Given the description of an element on the screen output the (x, y) to click on. 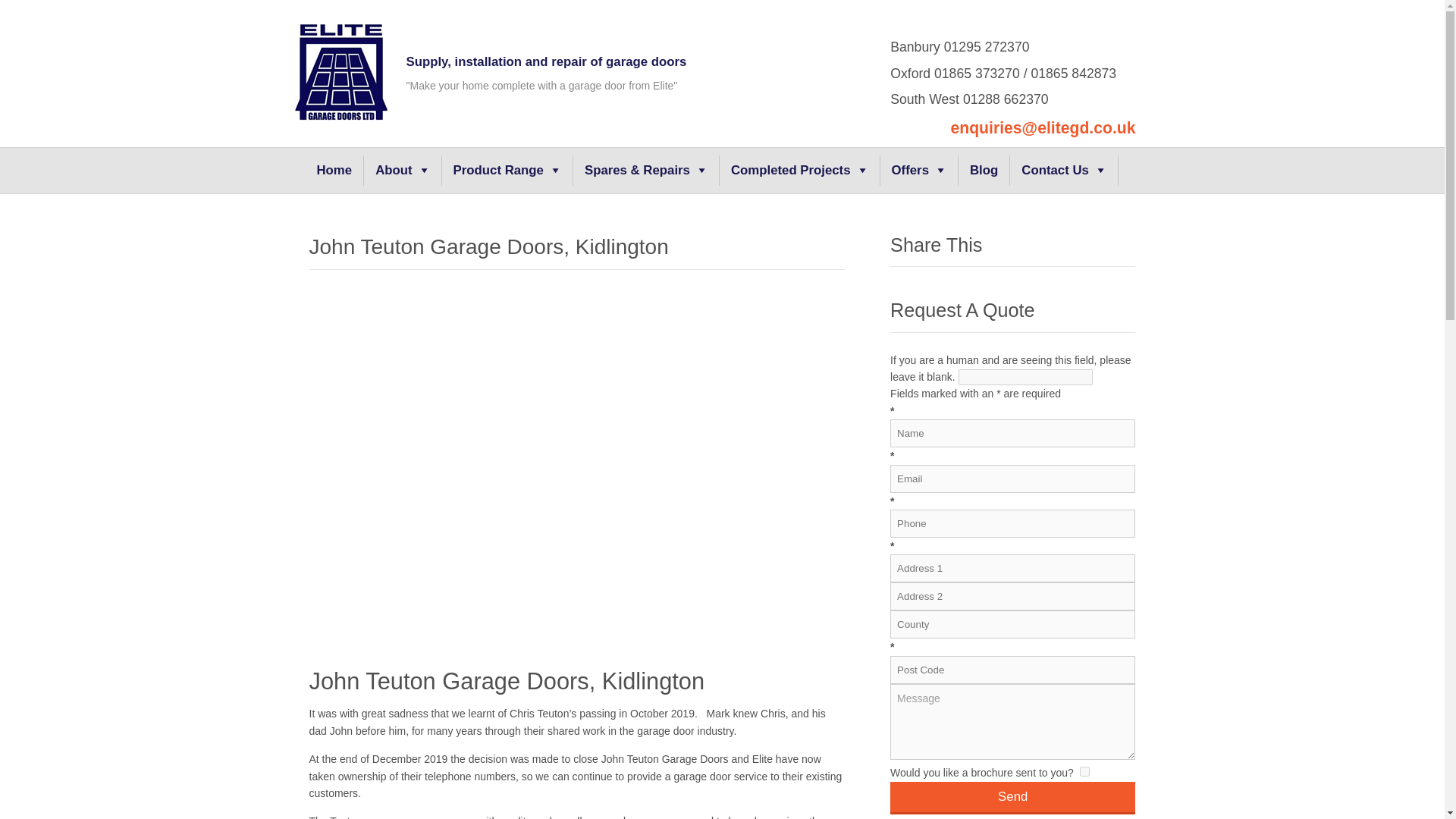
About (402, 170)
Completed Projects (799, 170)
Product Range (507, 170)
Send (1012, 798)
Offers (919, 170)
Contact Us (1064, 170)
Home (334, 170)
checked (1084, 771)
Blog (984, 170)
Send (1012, 798)
